Given the description of an element on the screen output the (x, y) to click on. 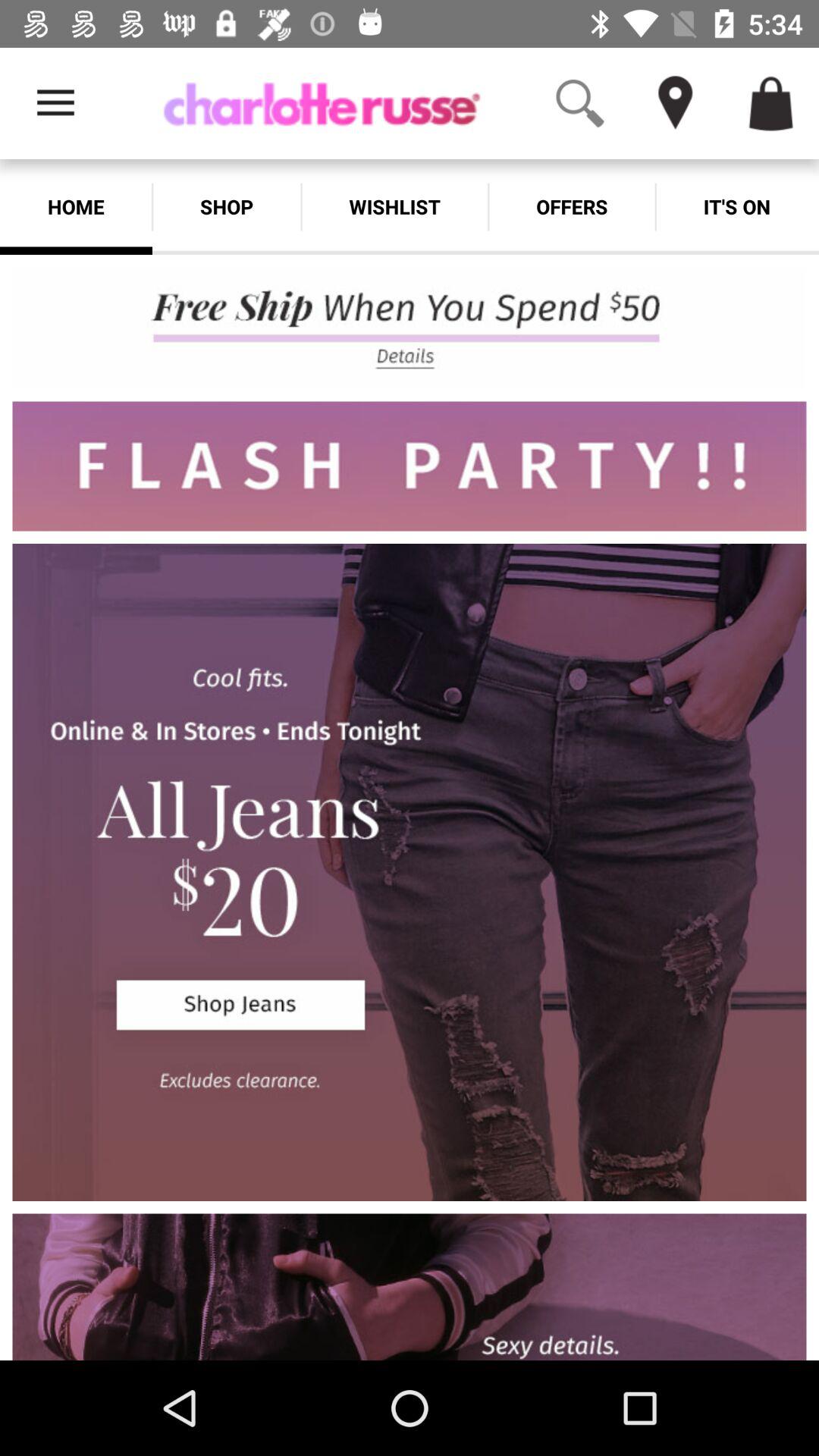
jump to the offers icon (571, 206)
